Given the description of an element on the screen output the (x, y) to click on. 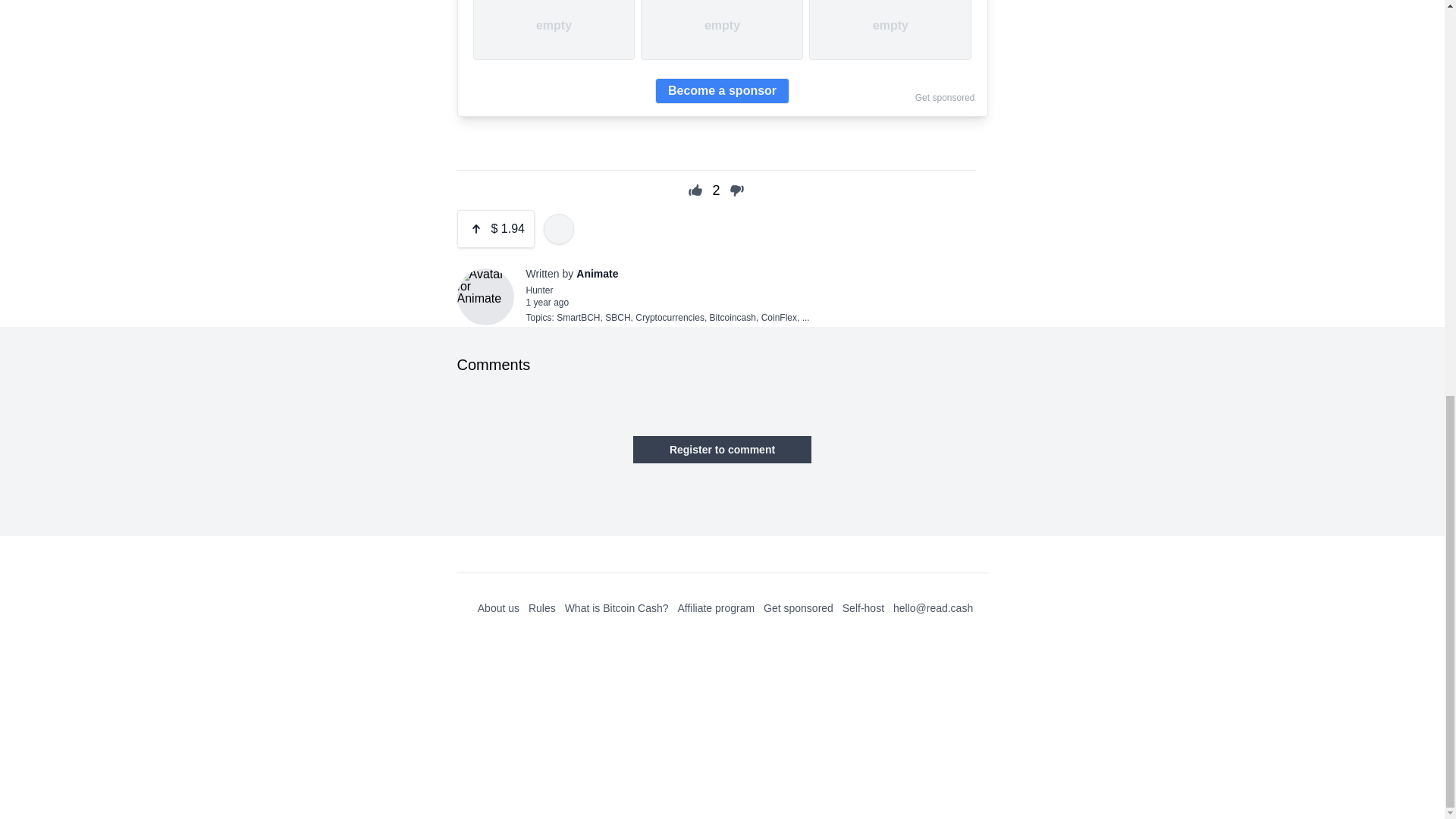
Self-host (863, 607)
Become a sponsor (722, 90)
Animate (596, 273)
Rules (542, 607)
Get sponsored (945, 97)
Get sponsored (797, 607)
About us (498, 607)
CoinFlex (778, 317)
SmartBCH (577, 317)
What is Bitcoin Cash? (616, 607)
SBCH (617, 317)
Affiliate program (715, 607)
Bitcoincash (732, 317)
Cryptocurrencies (669, 317)
Register to comment (721, 449)
